Given the description of an element on the screen output the (x, y) to click on. 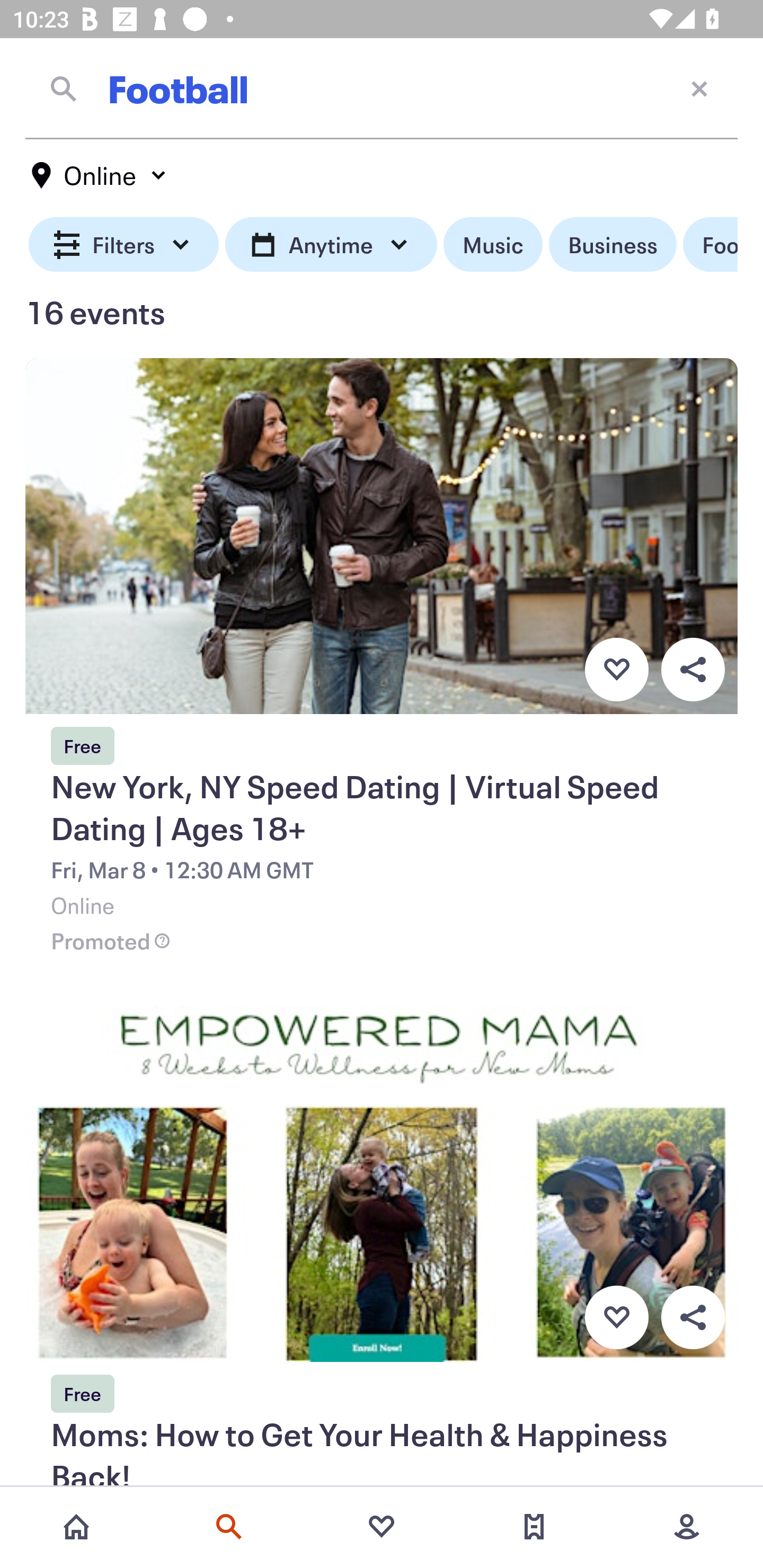
Football Close current screen (381, 88)
Close current screen (699, 88)
Online (99, 175)
Filters (123, 244)
Anytime (331, 244)
Music (492, 244)
Business (612, 244)
Favorite button (616, 669)
Overflow menu button (692, 669)
Favorite button (616, 1317)
Overflow menu button (692, 1317)
Home (76, 1526)
Search events (228, 1526)
Favorites (381, 1526)
Tickets (533, 1526)
More (686, 1526)
